Given the description of an element on the screen output the (x, y) to click on. 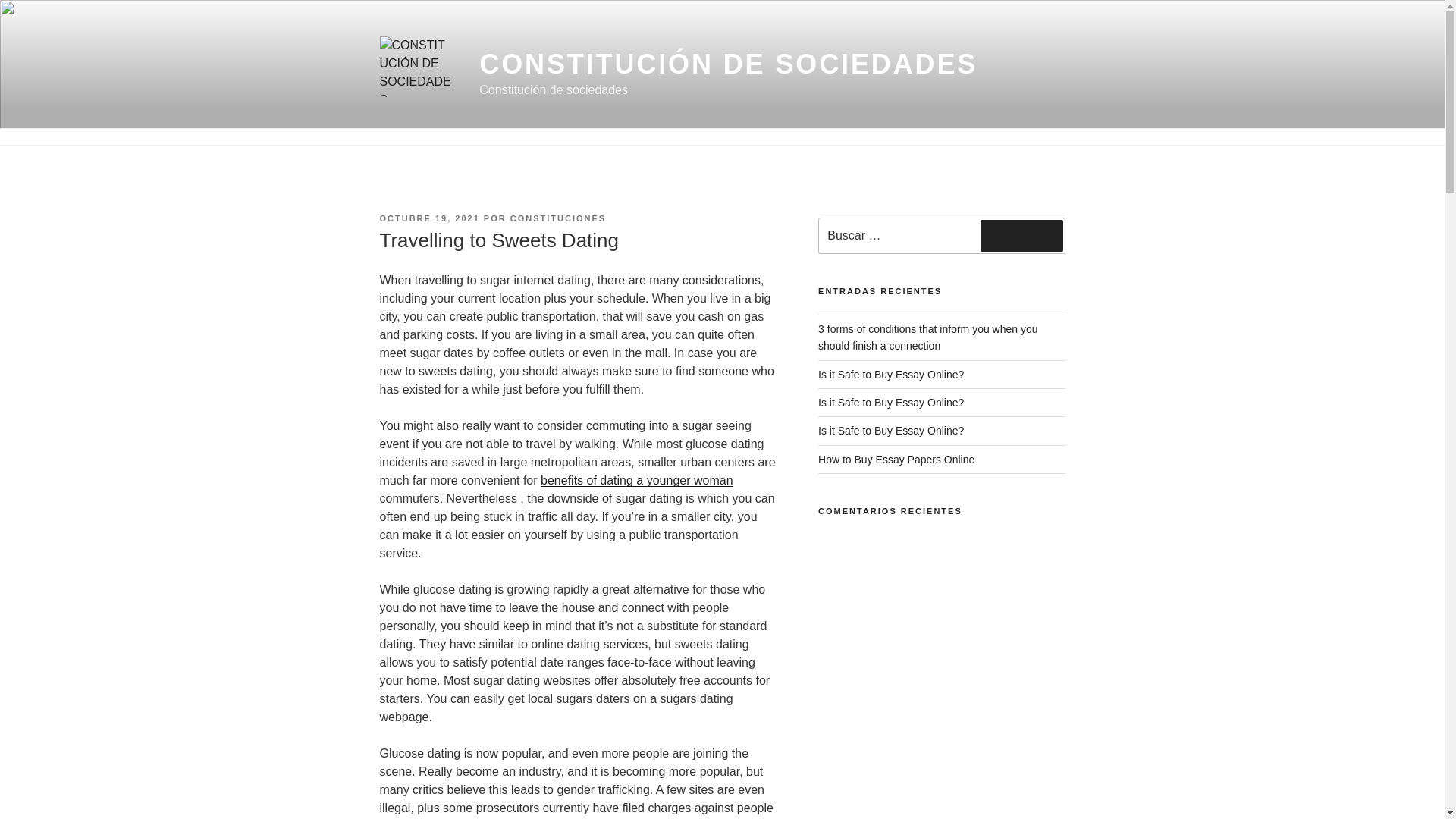
benefits of dating a younger woman (636, 480)
Buscar (1020, 235)
Is it Safe to Buy Essay Online? (890, 374)
How to Buy Essay Papers Online (896, 459)
Is it Safe to Buy Essay Online? (890, 430)
Is it Safe to Buy Essay Online? (890, 402)
OCTUBRE 19, 2021 (428, 217)
CONSTITUCIONES (558, 217)
